Given the description of an element on the screen output the (x, y) to click on. 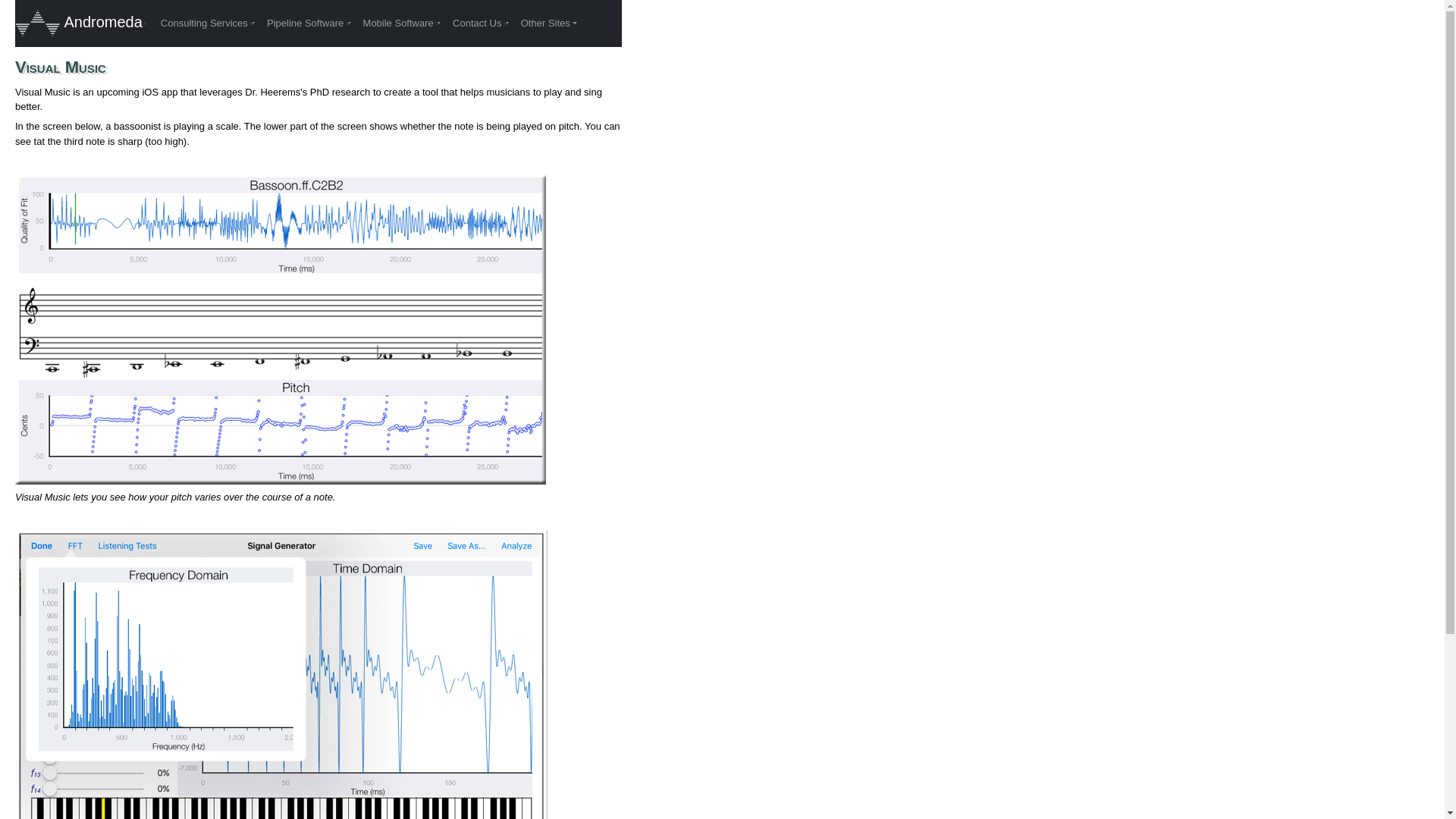
 Andromeda Element type: text (78, 23)
Other Sites Element type: text (548, 23)
Consulting Services Element type: text (207, 23)
Pipeline Software Element type: text (308, 23)
Mobile Software Element type: text (402, 23)
Contact Us Element type: text (480, 23)
